Given the description of an element on the screen output the (x, y) to click on. 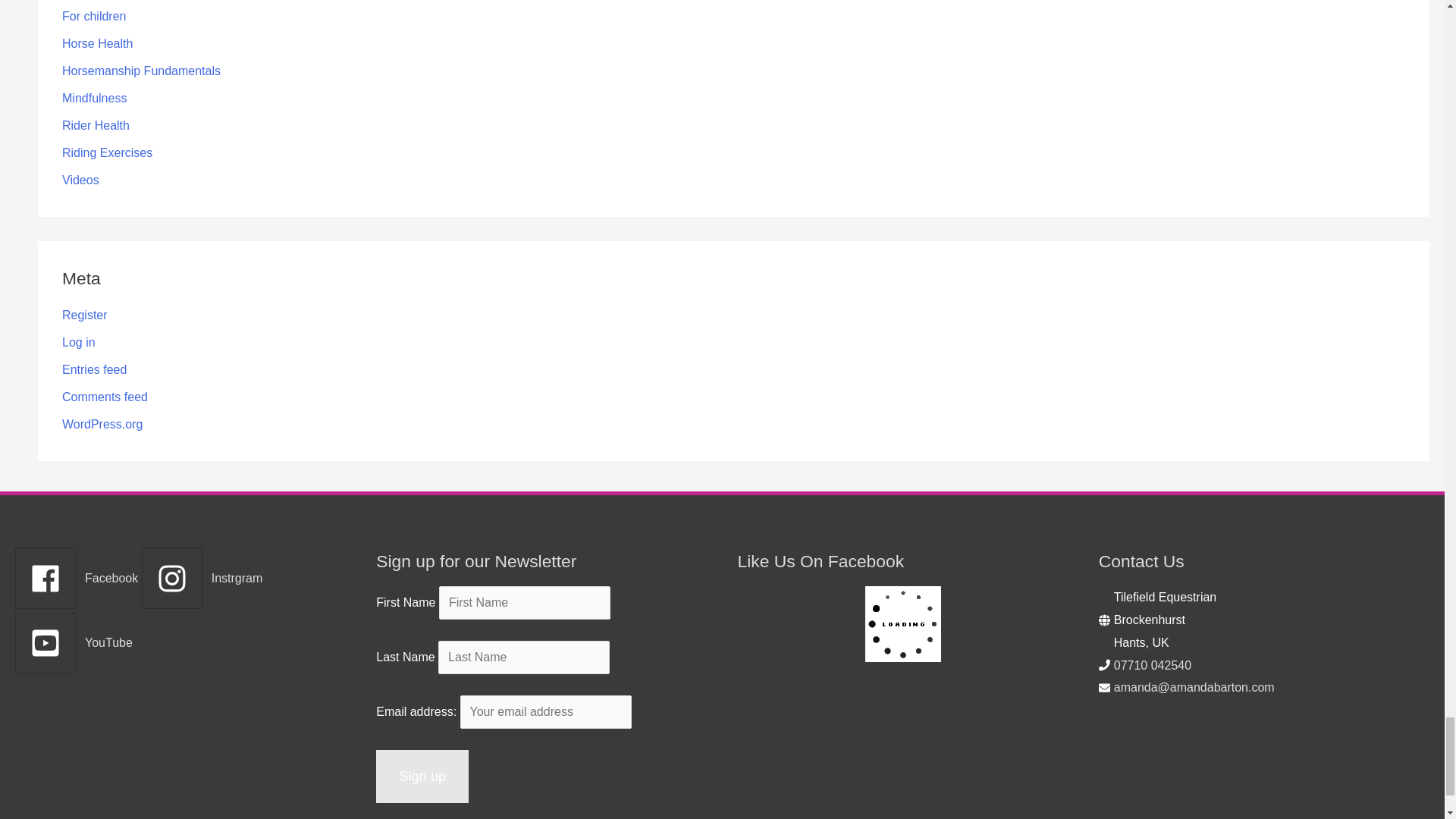
Sign up (421, 776)
